Given the description of an element on the screen output the (x, y) to click on. 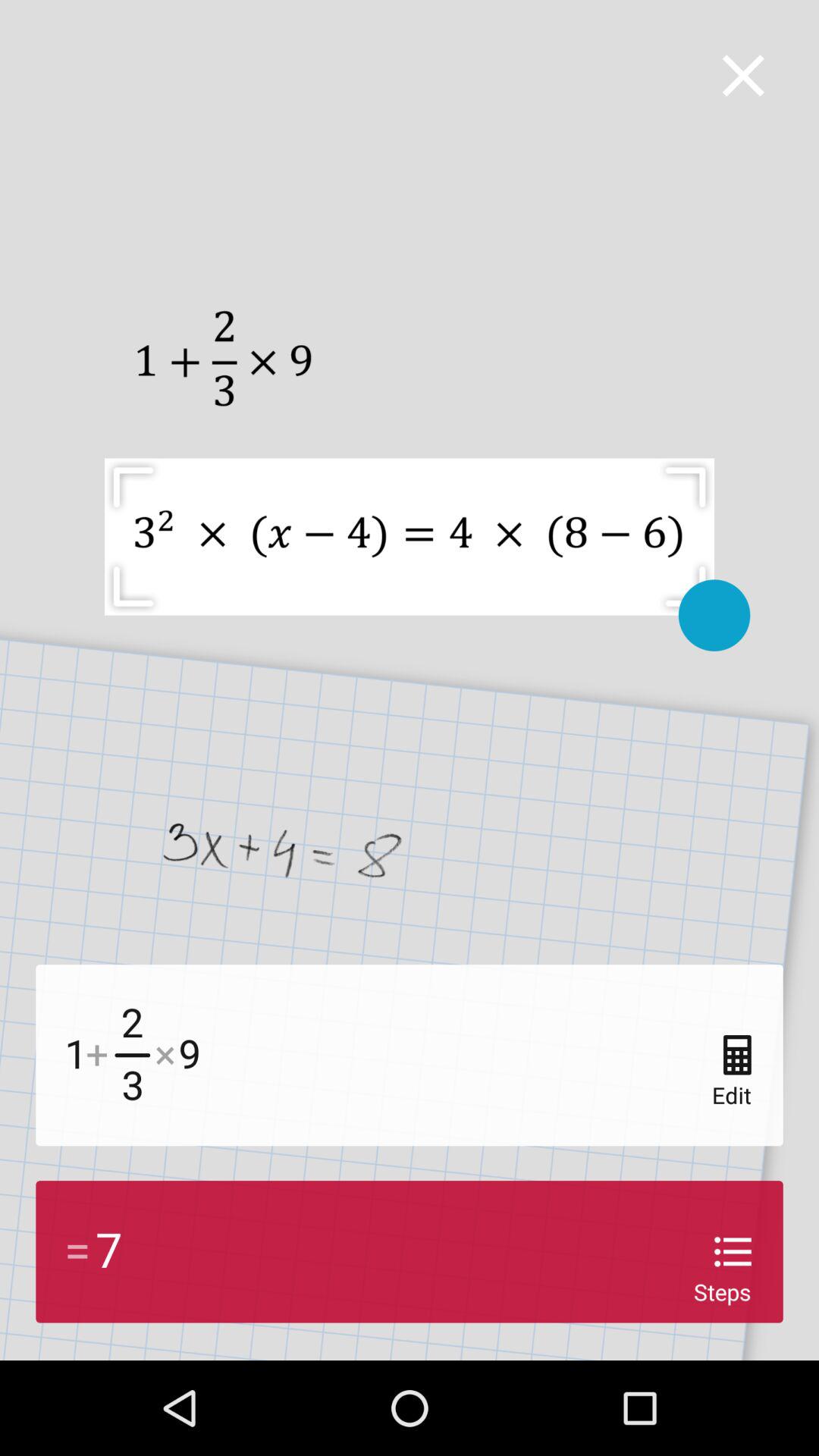
close the page (743, 75)
